Given the description of an element on the screen output the (x, y) to click on. 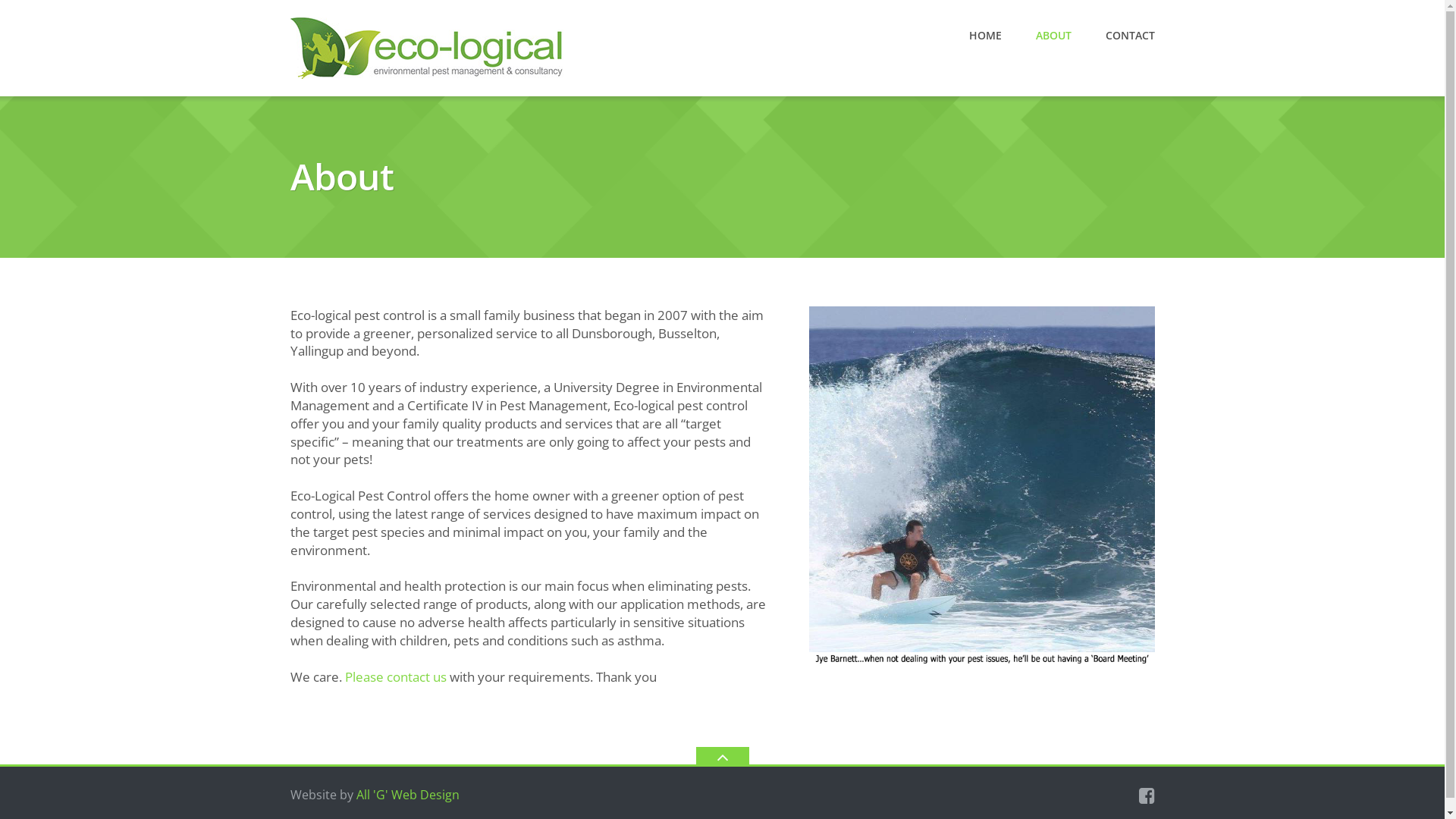
Facebook Element type: hover (1146, 795)
Please contact us Element type: text (394, 676)
All 'G' Web Design Element type: text (407, 794)
HOME Element type: text (985, 35)
CONTACT Element type: text (1129, 35)
ABOUT Element type: text (1053, 35)
Ecological Pest Management Element type: hover (428, 46)
